Given the description of an element on the screen output the (x, y) to click on. 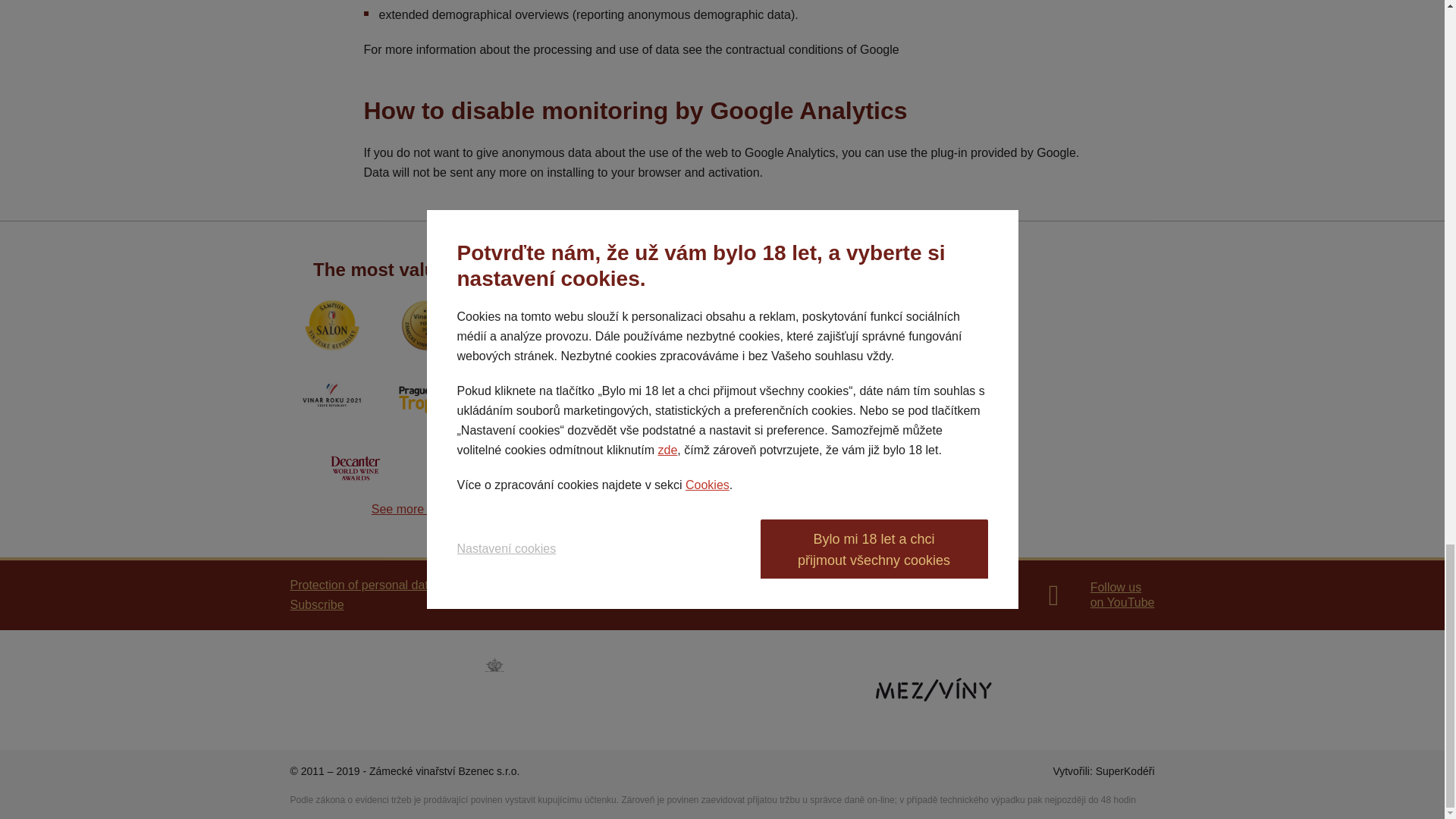
Subscribe (316, 605)
Protection of personal data (361, 585)
See more awards (961, 594)
